Given the description of an element on the screen output the (x, y) to click on. 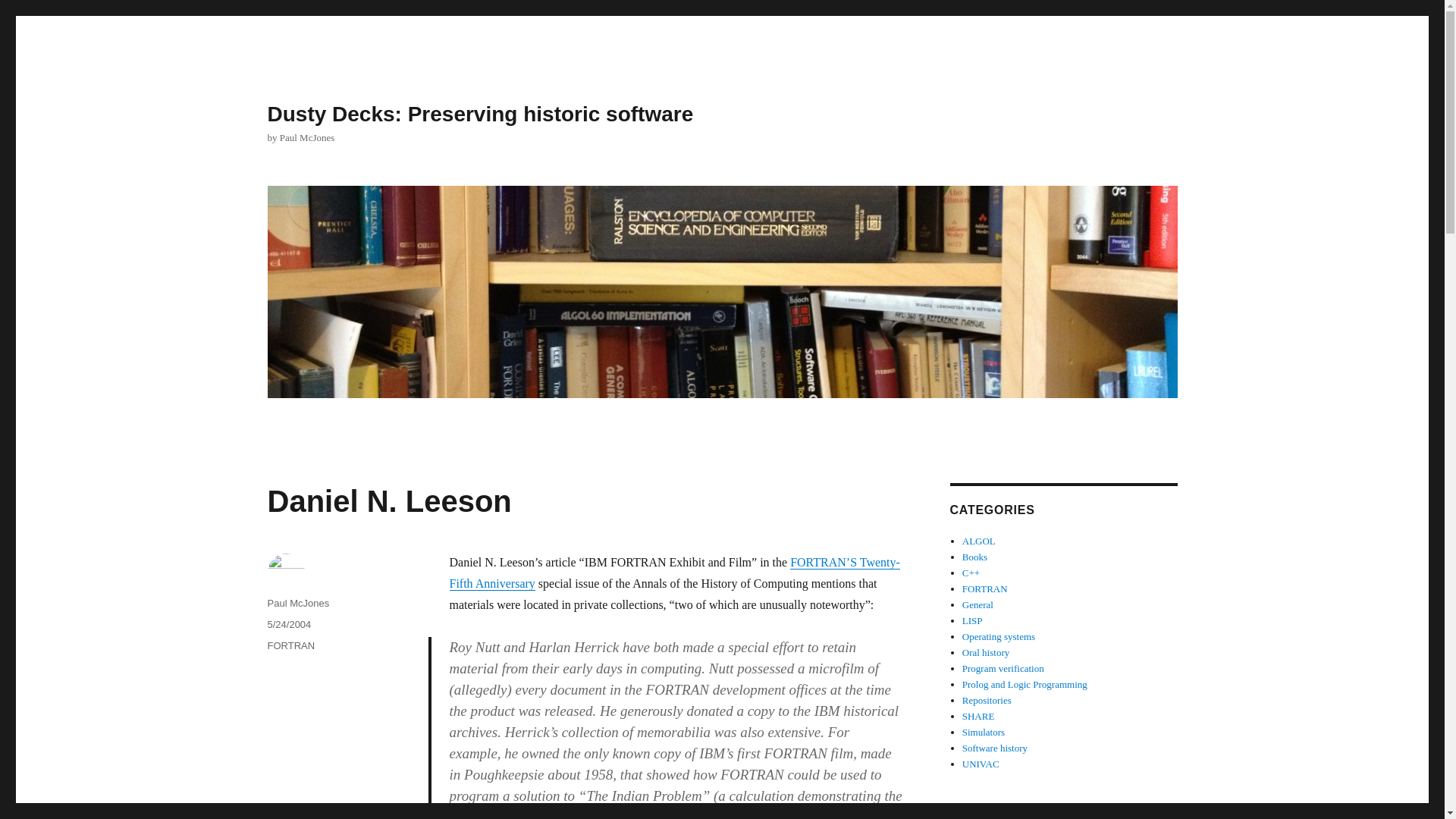
Prolog and Logic Programming (1024, 684)
Program verification (1002, 668)
Simulators (983, 731)
FORTRAN (290, 645)
Oral history (985, 652)
Dusty Decks: Preserving historic software (479, 114)
UNIVAC (980, 763)
SHARE (978, 715)
General (977, 604)
ALGOL (978, 541)
